Given the description of an element on the screen output the (x, y) to click on. 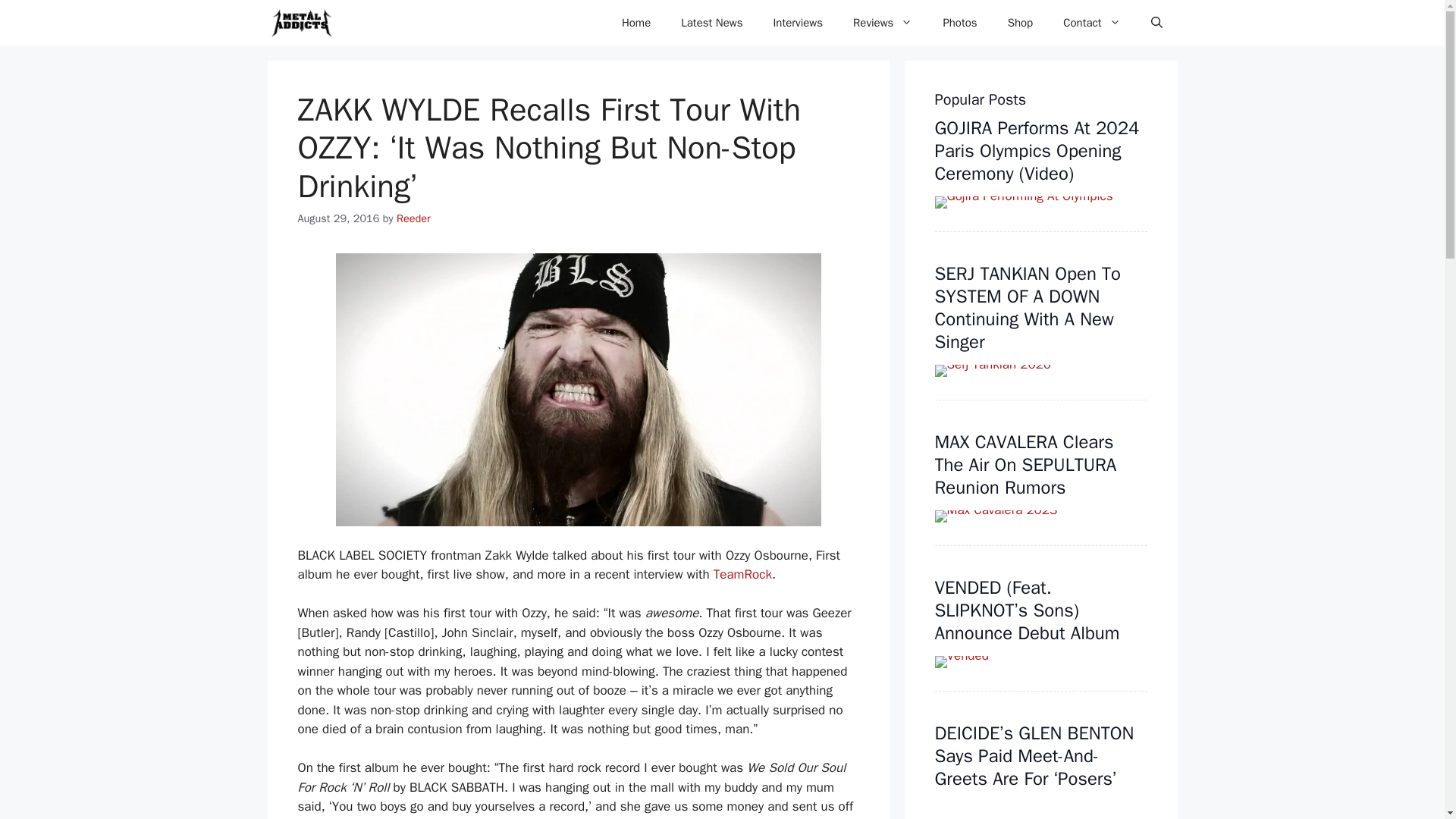
Latest News (711, 22)
Photos (959, 22)
Metal Addicts Shop (1020, 22)
TeamRock (742, 574)
Shop (1020, 22)
Interviews (797, 22)
Reeder (413, 218)
Home (636, 22)
Contact (1091, 22)
View all posts by Reeder (413, 218)
Reviews (882, 22)
Metal Addicts (300, 22)
MAX CAVALERA Clears The Air On SEPULTURA Reunion Rumors (1025, 464)
